Given the description of an element on the screen output the (x, y) to click on. 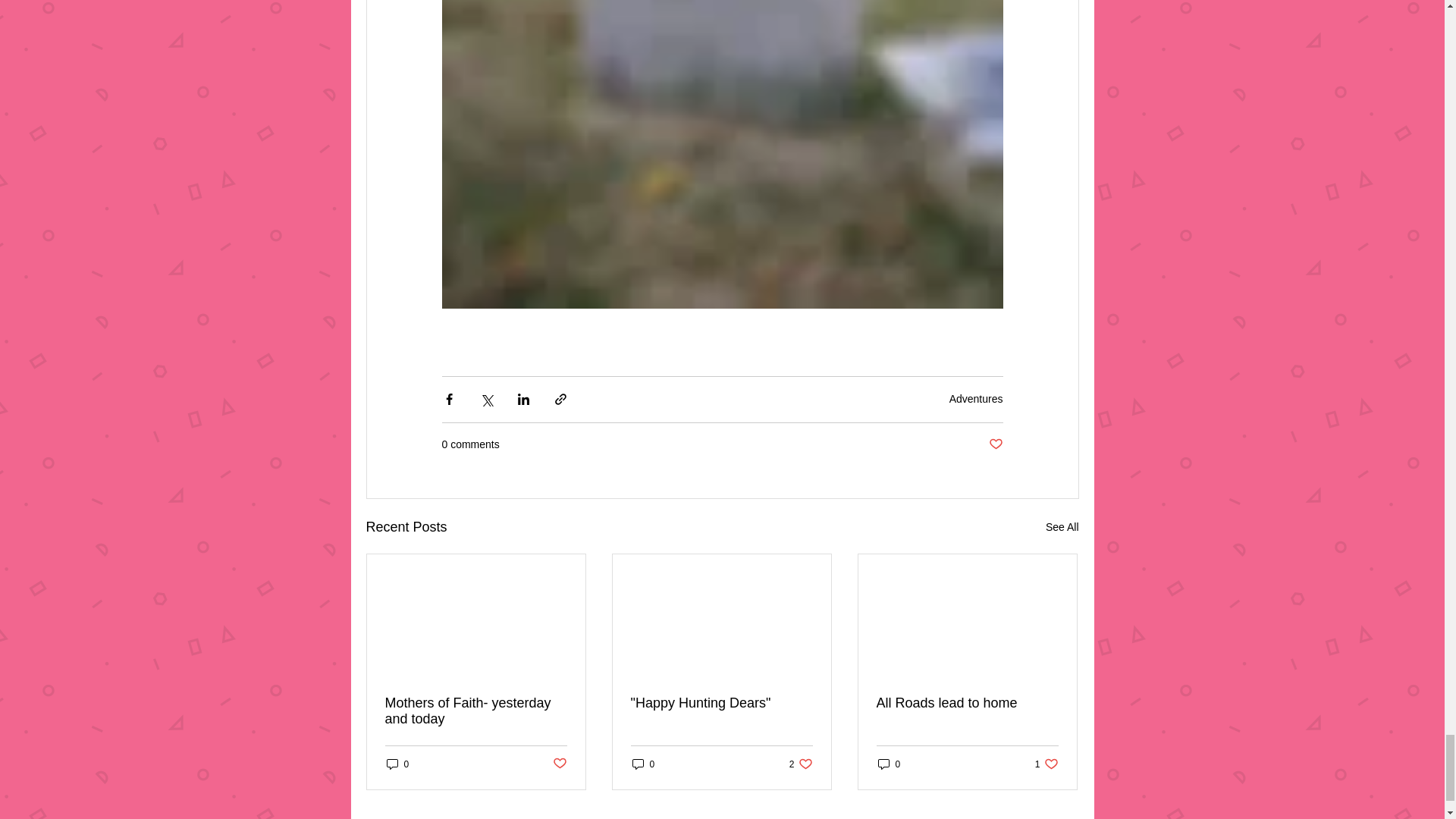
0 (1046, 763)
"Happy Hunting Dears" (397, 763)
Post not marked as liked (721, 703)
Post not marked as liked (995, 444)
0 (800, 763)
0 (558, 763)
See All (889, 763)
Adventures (643, 763)
